Given the description of an element on the screen output the (x, y) to click on. 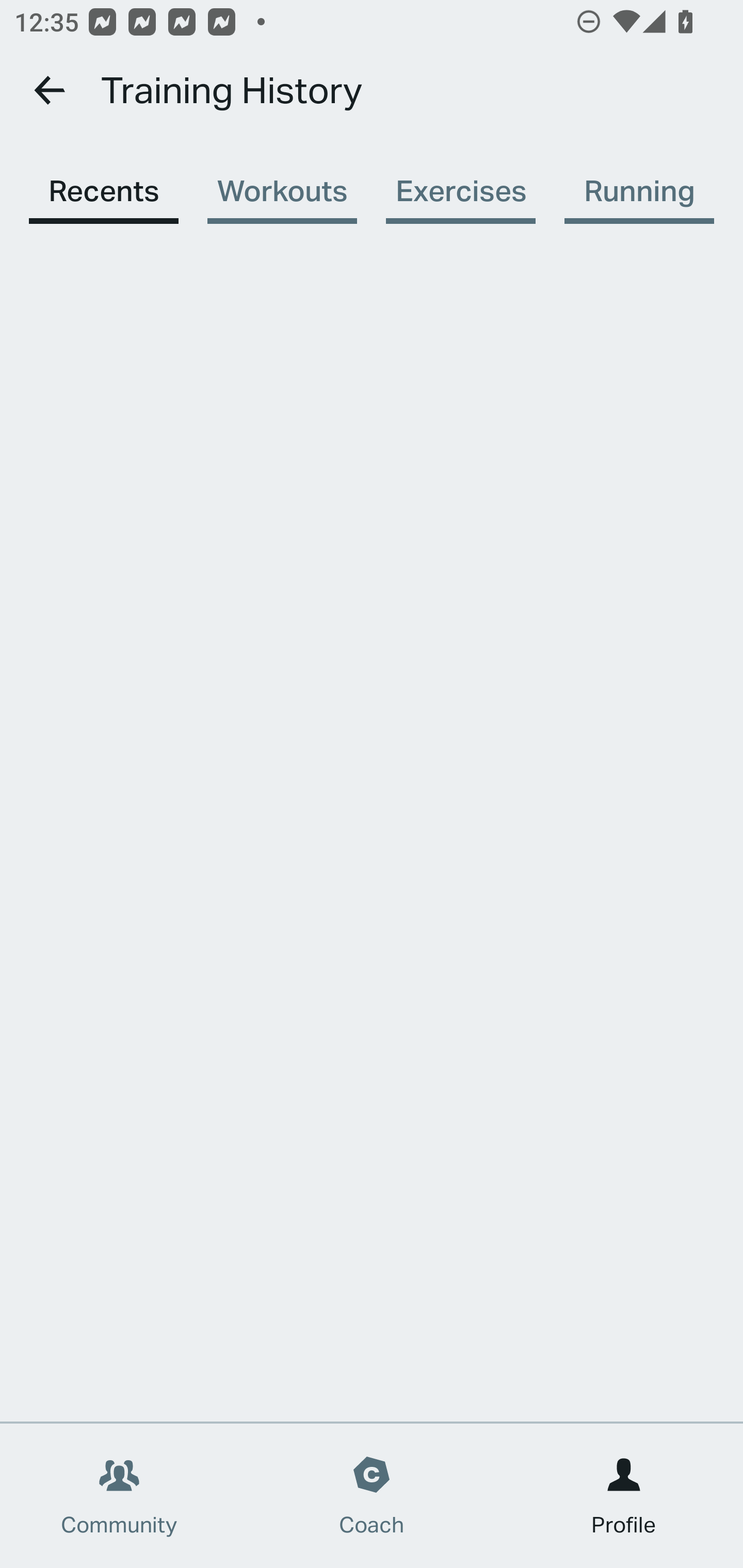
Go back (50, 90)
Recents (103, 180)
Workouts (282, 180)
Exercises (460, 180)
Running (639, 180)
Community (119, 1495)
Coach (371, 1495)
